Given the description of an element on the screen output the (x, y) to click on. 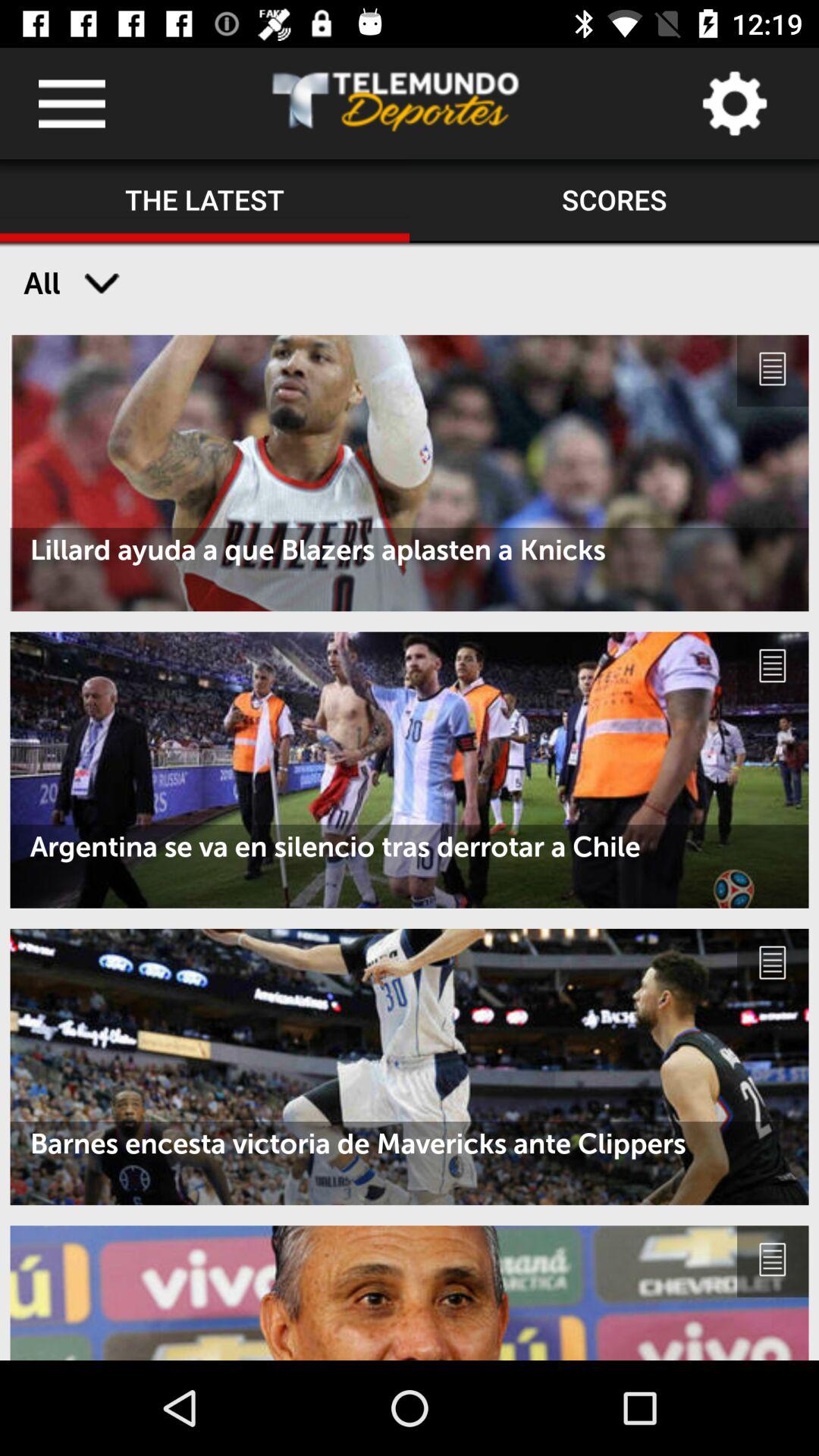
a menu button (71, 103)
